Given the description of an element on the screen output the (x, y) to click on. 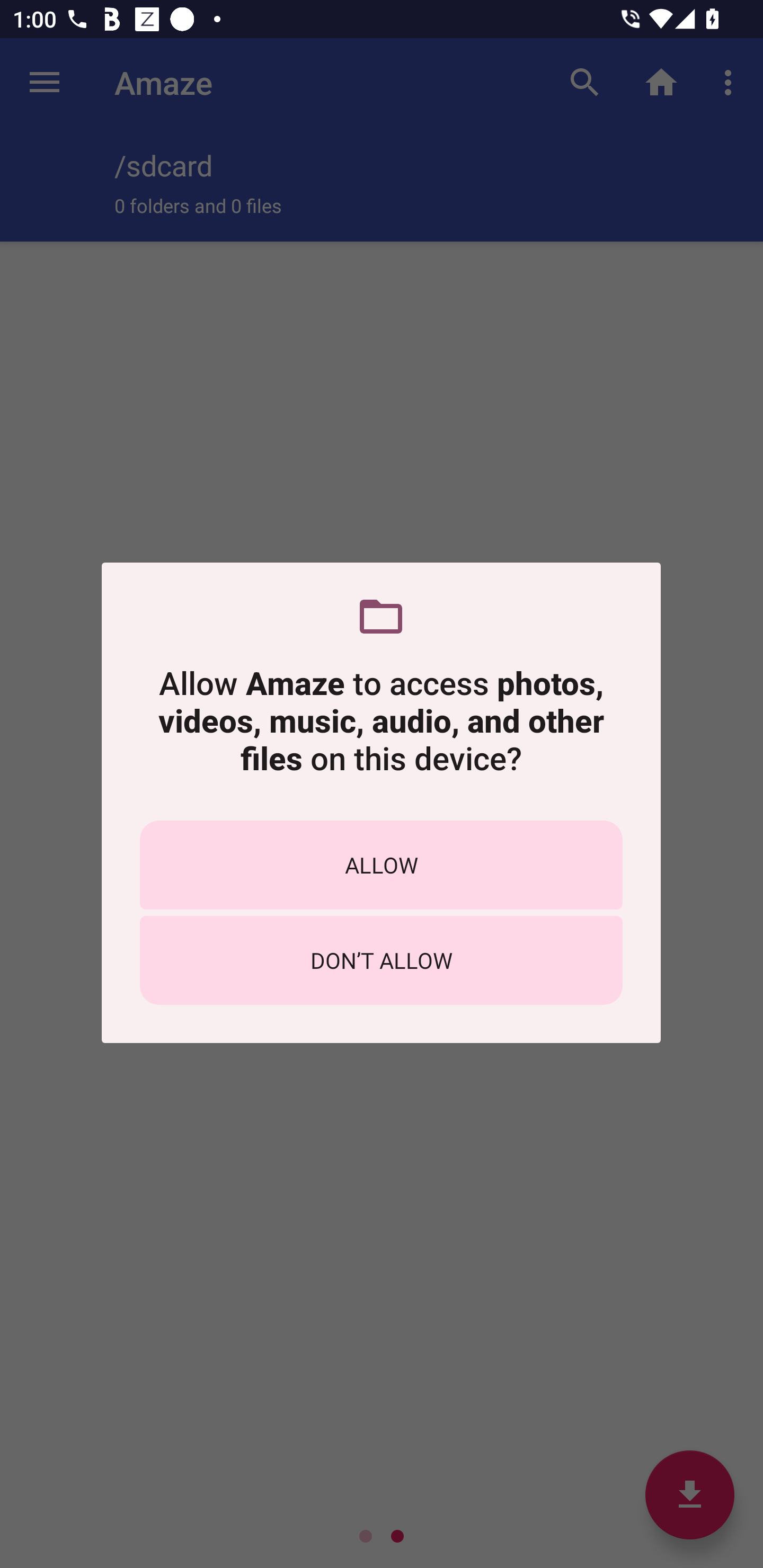
ALLOW (380, 864)
DON’T ALLOW (380, 960)
